Given the description of an element on the screen output the (x, y) to click on. 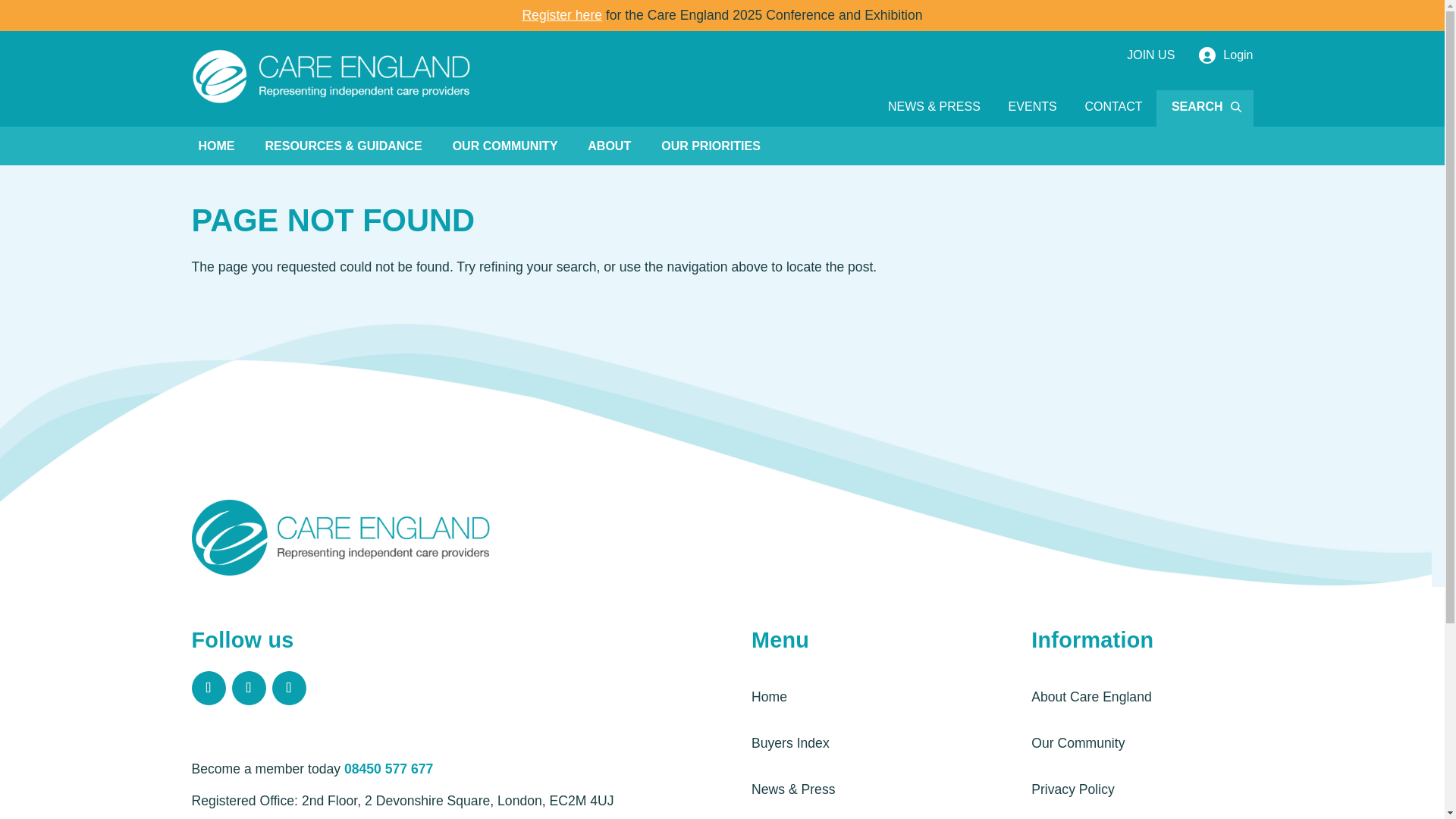
care-england-logo (330, 76)
Buyers Index (790, 743)
Register here (561, 14)
care-england-logo-col (342, 543)
About Care England (1090, 697)
CONTACT (1113, 108)
HOME (216, 145)
OUR COMMUNITY (504, 145)
SEARCH (1204, 108)
ABOUT (609, 145)
